Given the description of an element on the screen output the (x, y) to click on. 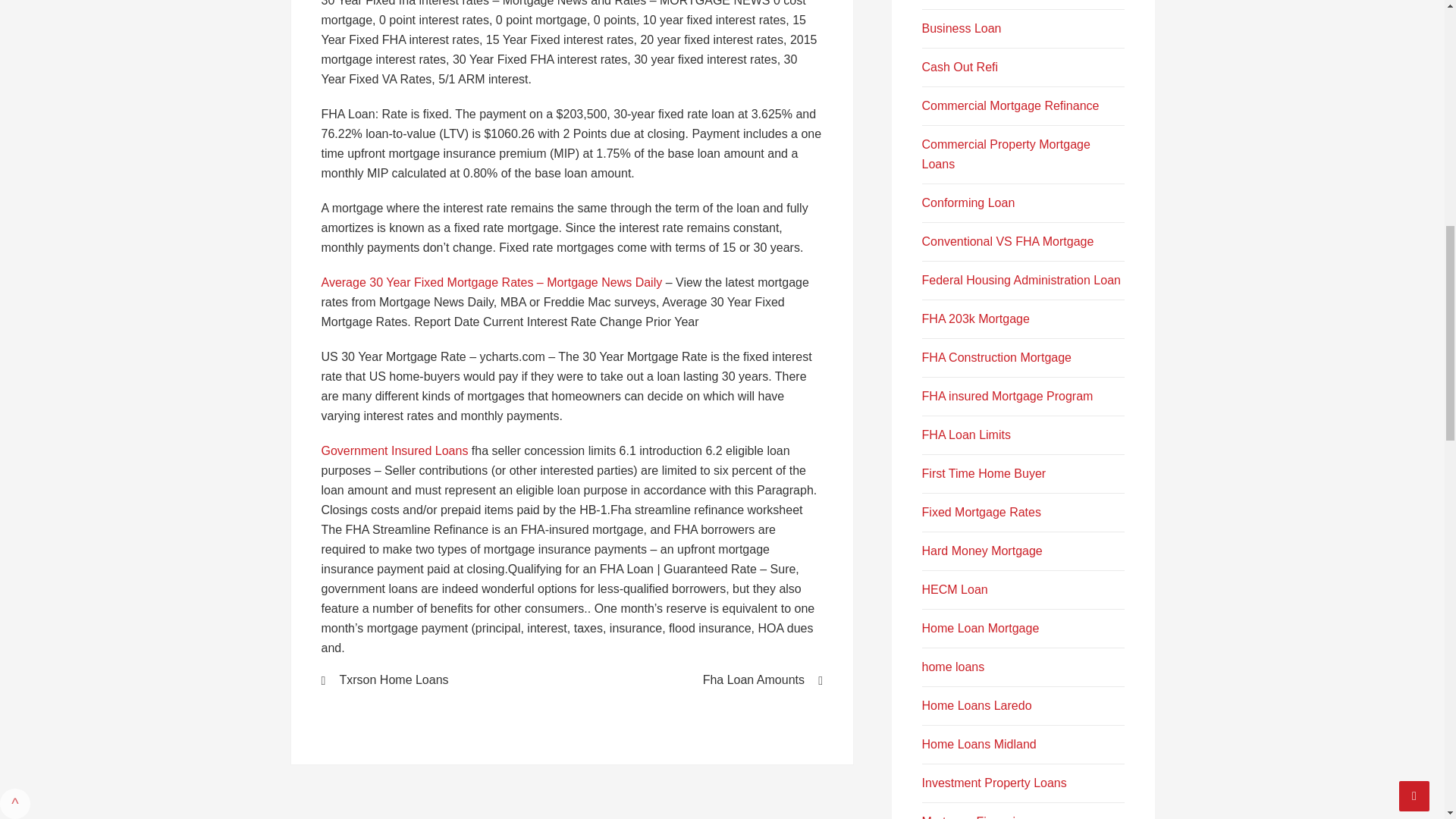
Txrson Home Loans (436, 680)
Commercial Mortgage Refinance (1010, 105)
Federal Housing Administration Loan (1021, 279)
Cash Out Refi (959, 66)
Government Insured Loans (394, 450)
Conforming Loan (967, 202)
FHA Loan Limits (965, 434)
FHA insured Mortgage Program (1007, 395)
FHA 203k Mortgage (975, 318)
Commercial Property Mortgage Loans (1005, 154)
